Given the description of an element on the screen output the (x, y) to click on. 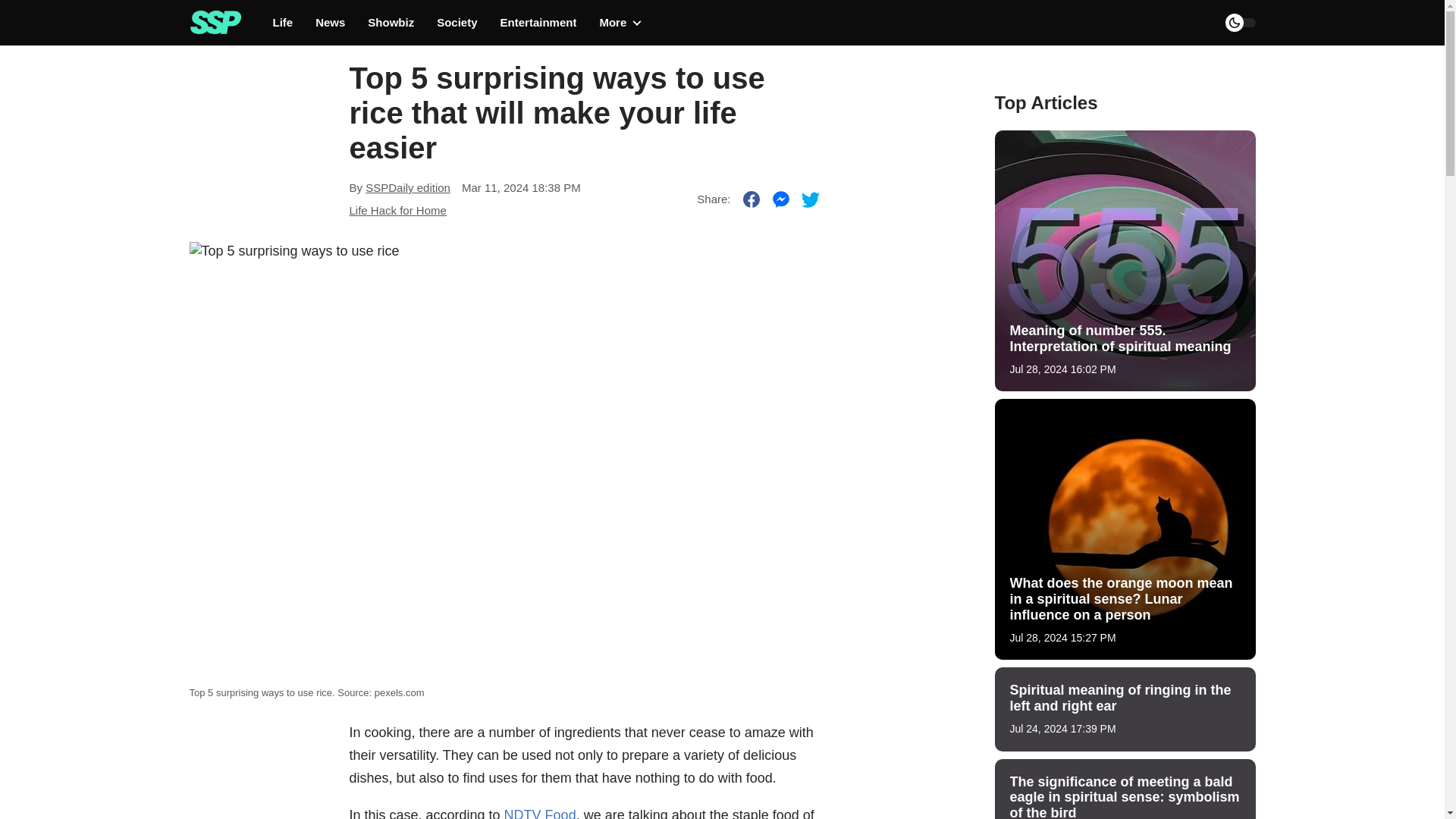
Life Hack for Home (397, 210)
Showbiz (390, 22)
Entertainment (538, 22)
SSPDaily edition (407, 187)
Life (283, 22)
Society (456, 22)
NDTV Food (539, 813)
News (330, 22)
